Given the description of an element on the screen output the (x, y) to click on. 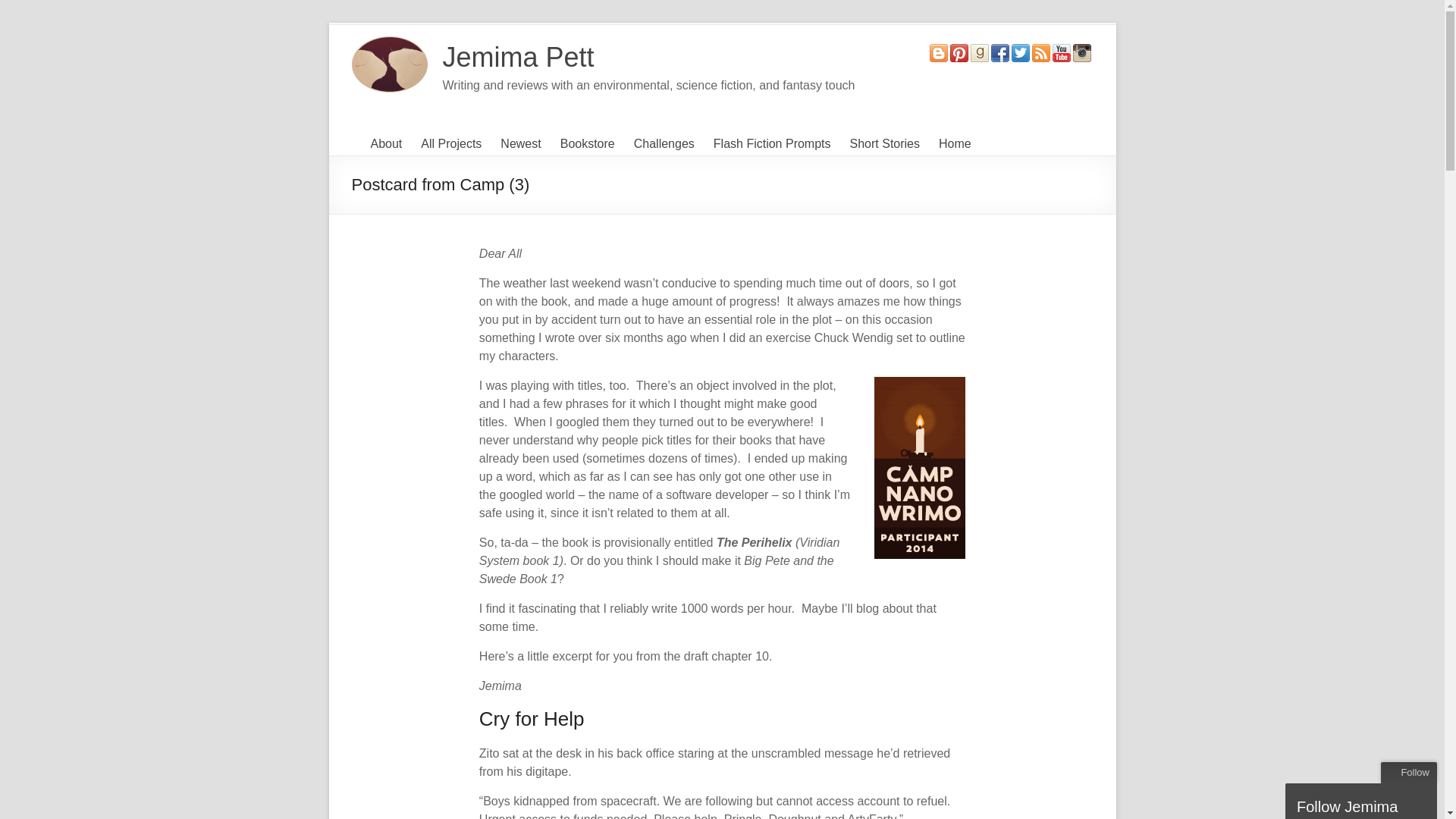
jemima.pett on Instagram (1080, 51)
Subscribe to RSS Feed (1039, 51)
Goodreads (979, 51)
YouTube Channel (1061, 51)
Bookstore (587, 143)
Connect on Facebook (999, 51)
All Projects (450, 143)
Newest (520, 143)
Blogger Blog (938, 51)
